Given the description of an element on the screen output the (x, y) to click on. 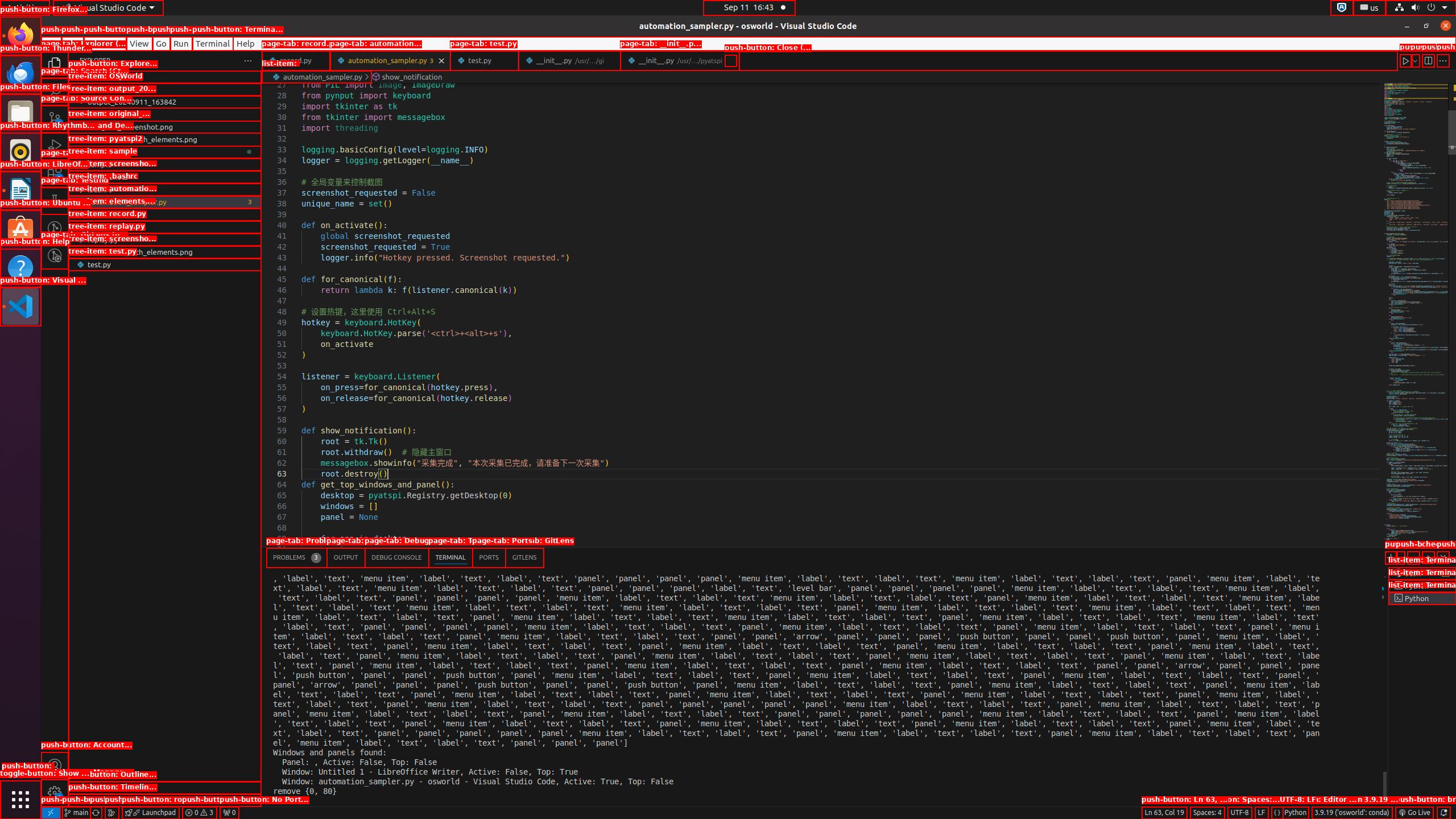
Split Editor Right (Ctrl+\) [Alt] Split Editor Down Element type: push-button (1427, 60)
rocket gitlens-unplug Launchpad, GitLens Launchpad ᴘʀᴇᴠɪᴇᴡ    &mdash;    [$(question)](command:gitlens.launchpad.indicator.action?%22info%22 "What is this?") [$(gear)](command:workbench.action.openSettings?%22gitlens.launchpad%22 "Settings")  |  [$(circle-slash) Hide](command:gitlens.launchpad.indicator.action?%22hide%22 "Hide") --- [Launchpad](command:gitlens.launchpad.indicator.action?%info%22 "Learn about Launchpad") organizes your pull requests into actionable groups to help you focus and keep your team unblocked. It's always accessible using the `GitLens: Open Launchpad` command from the Command Palette. --- [Connect an integration](command:gitlens.showLaunchpad?%7B%22source%22%3A%22launchpad-indicator%22%7D "Connect an integration") to get started. Element type: push-button (150, 812)
Outline Section Element type: push-button (164, 787)
